Given the description of an element on the screen output the (x, y) to click on. 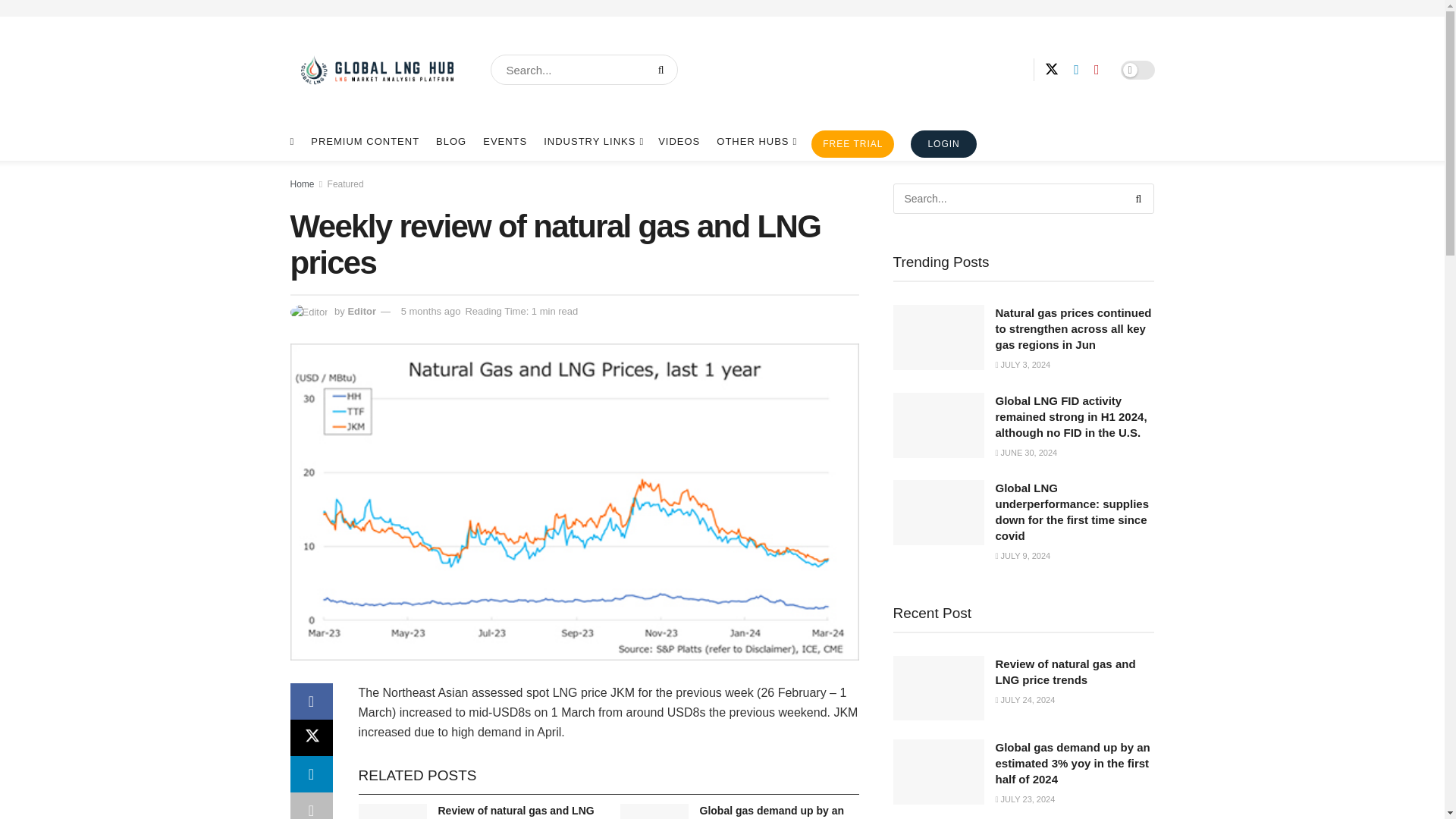
LOGIN (943, 144)
BLOG (450, 141)
PREMIUM CONTENT (365, 141)
FREE TRIAL (851, 144)
VIDEOS (679, 141)
EVENTS (505, 141)
OTHER HUBS (755, 141)
INDUSTRY LINKS (592, 141)
